Given the description of an element on the screen output the (x, y) to click on. 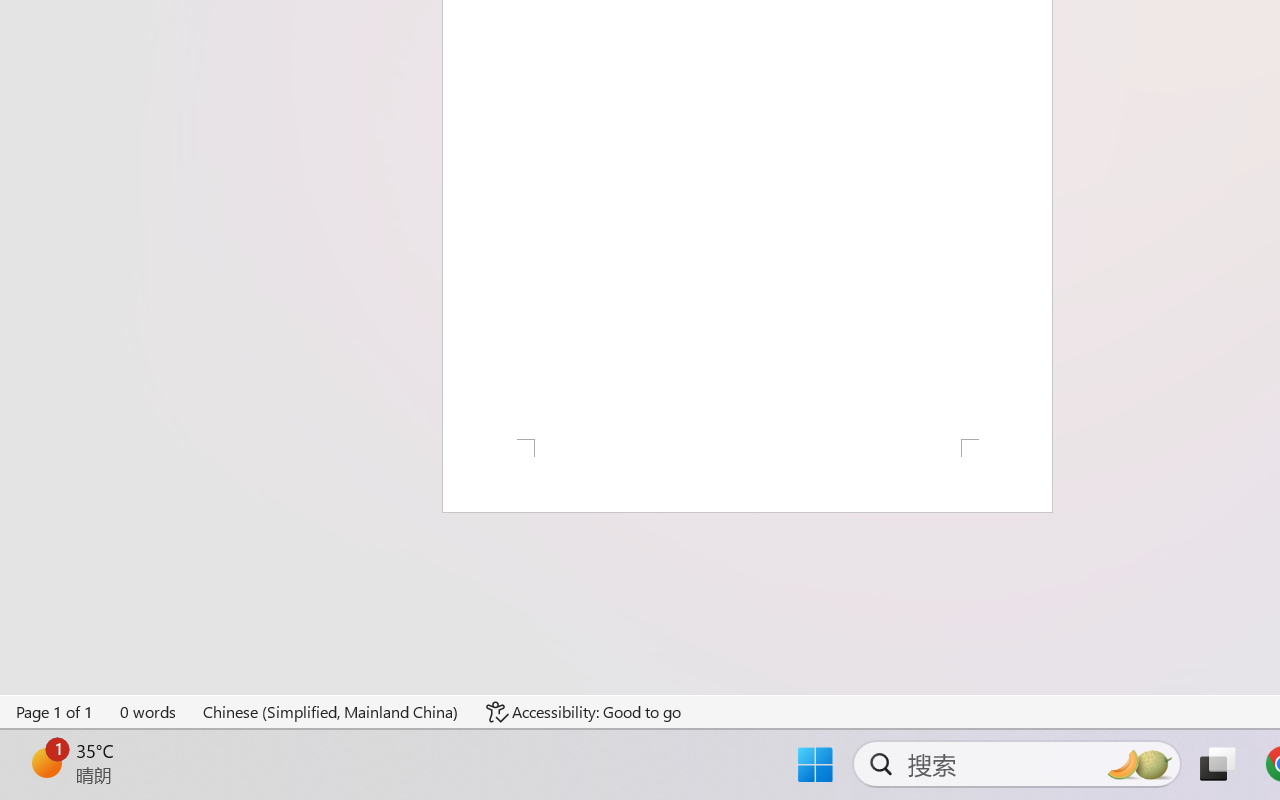
Language Chinese (Simplified, Mainland China) (331, 712)
